Given the description of an element on the screen output the (x, y) to click on. 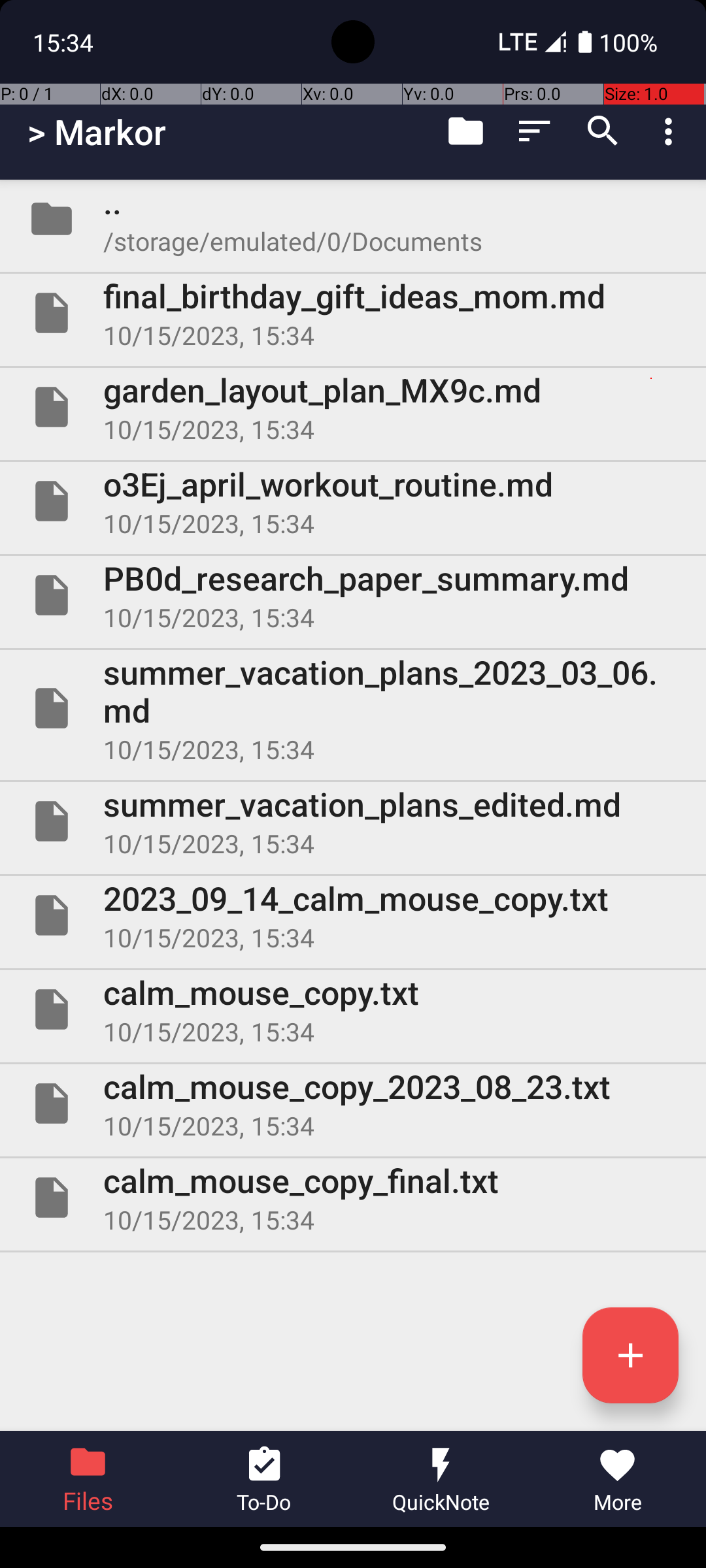
> Markor Element type: android.widget.TextView (96, 131)
File final_birthday_gift_ideas_mom.md  Element type: android.widget.LinearLayout (353, 312)
File garden_layout_plan_MX9c.md  Element type: android.widget.LinearLayout (353, 406)
File o3Ej_april_workout_routine.md  Element type: android.widget.LinearLayout (353, 500)
File PB0d_research_paper_summary.md  Element type: android.widget.LinearLayout (353, 594)
File summer_vacation_plans_2023_03_06.md  Element type: android.widget.LinearLayout (353, 708)
File summer_vacation_plans_edited.md  Element type: android.widget.LinearLayout (353, 821)
File 2023_09_14_calm_mouse_copy.txt  Element type: android.widget.LinearLayout (353, 915)
File calm_mouse_copy.txt  Element type: android.widget.LinearLayout (353, 1009)
File calm_mouse_copy_2023_08_23.txt  Element type: android.widget.LinearLayout (353, 1103)
File calm_mouse_copy_final.txt  Element type: android.widget.LinearLayout (353, 1197)
